Given the description of an element on the screen output the (x, y) to click on. 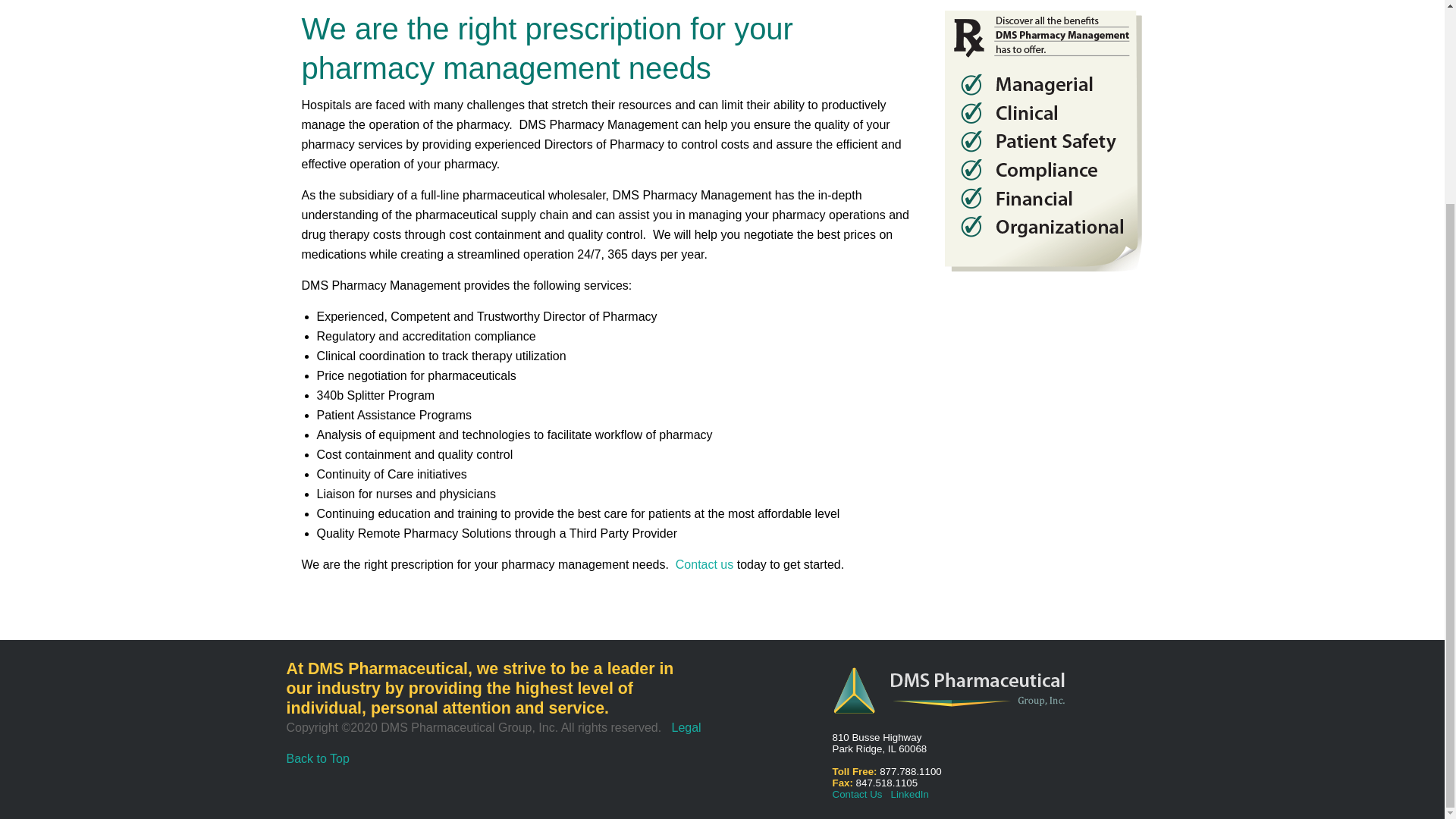
Legal (686, 727)
Contact us (704, 563)
LinkedIn (909, 794)
Contact Us (857, 794)
Back to Top (317, 759)
